Given the description of an element on the screen output the (x, y) to click on. 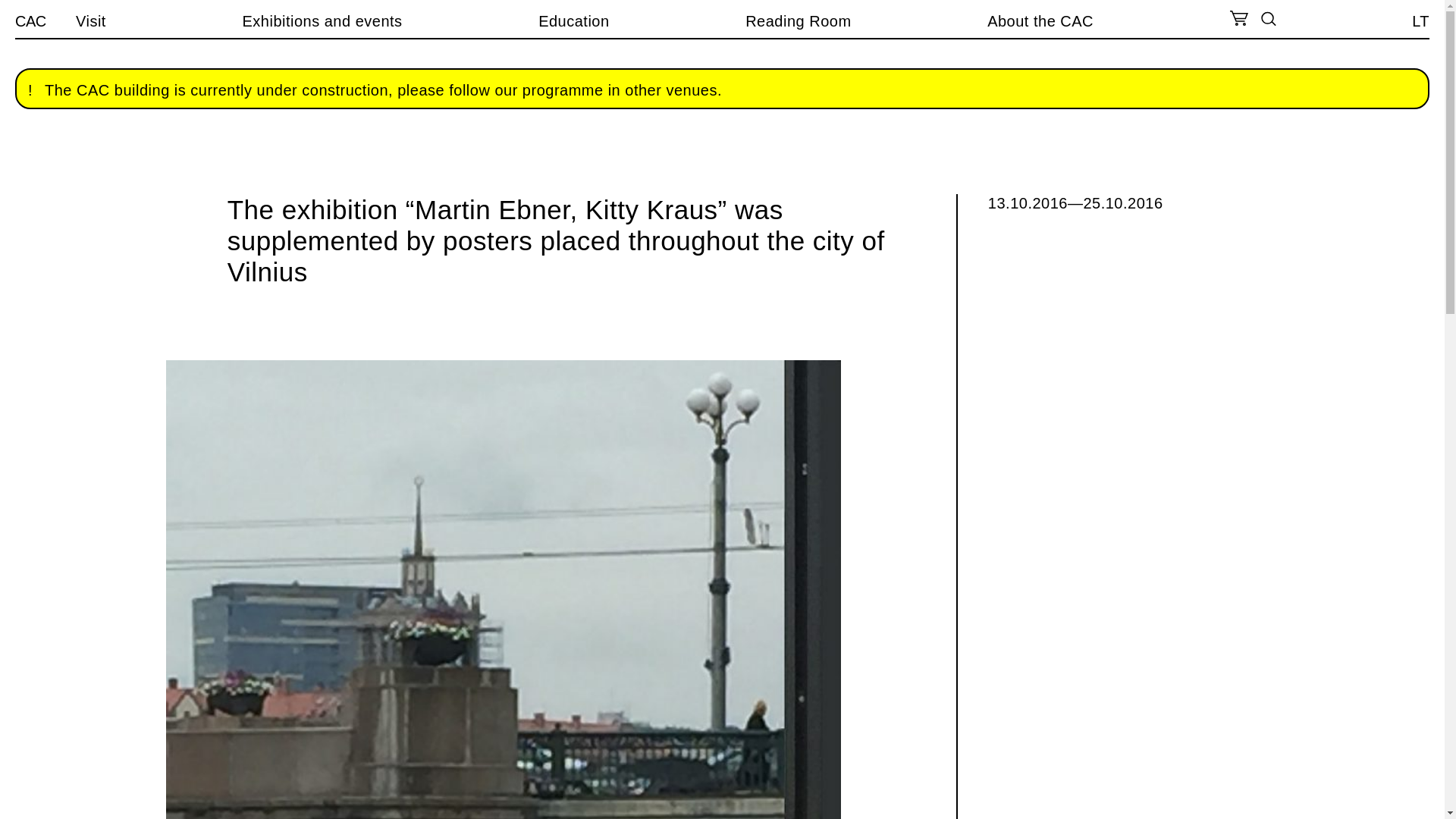
Visit (90, 21)
CAC (30, 21)
Reading Room (797, 21)
About the CAC (1040, 21)
Search (21, 7)
Exhibitions and events (321, 21)
LT (1420, 21)
Education (573, 21)
